Given the description of an element on the screen output the (x, y) to click on. 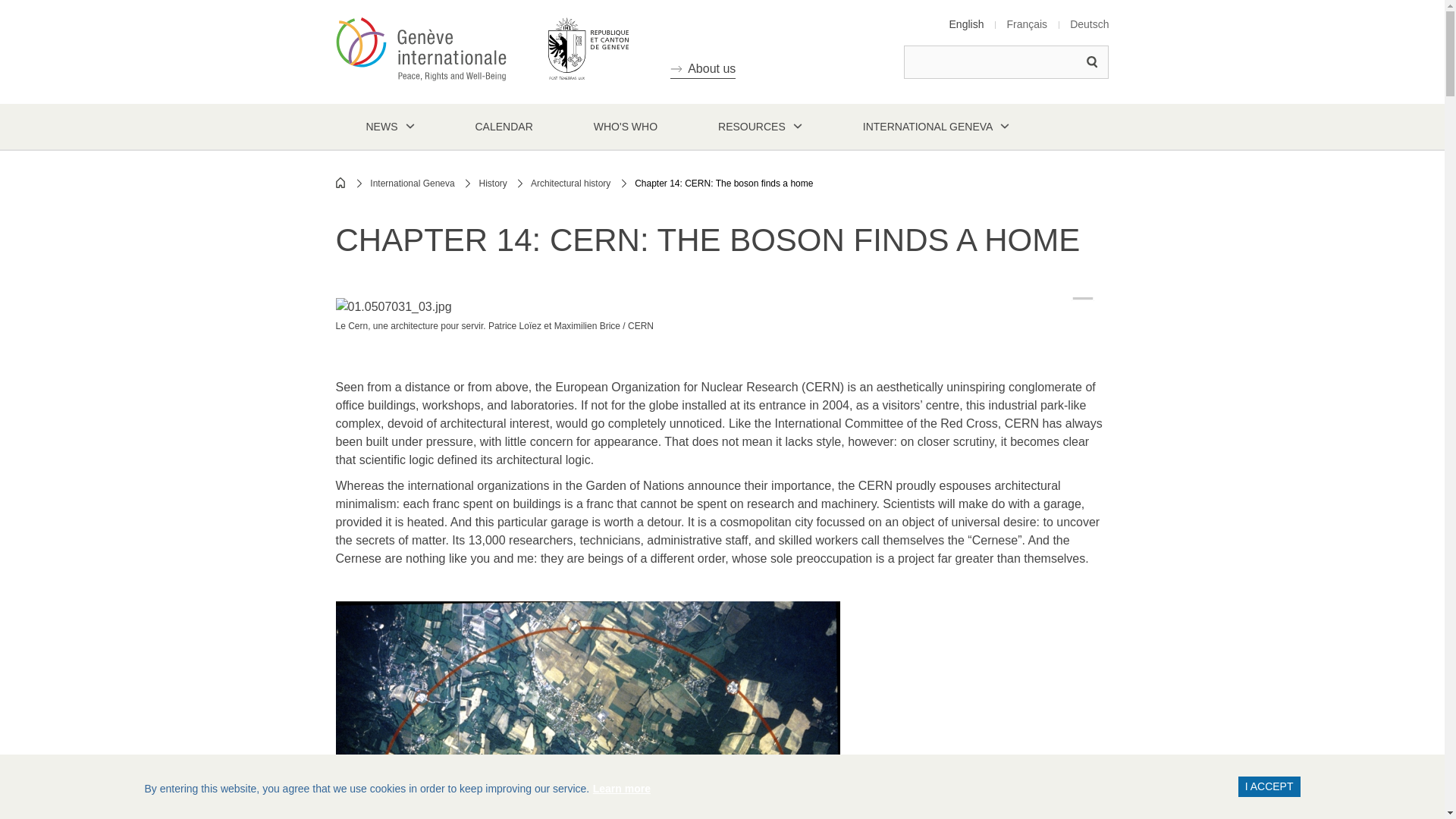
NEWS (389, 126)
Enter the terms you wish to search for. (1006, 61)
Search (1092, 62)
INTERNATIONAL GENEVA (936, 126)
WHO'S WHO (625, 126)
RESOURCES (759, 126)
About us (702, 68)
English (966, 24)
CALENDAR (503, 126)
Deutsch (1089, 24)
Search (1092, 62)
